Given the description of an element on the screen output the (x, y) to click on. 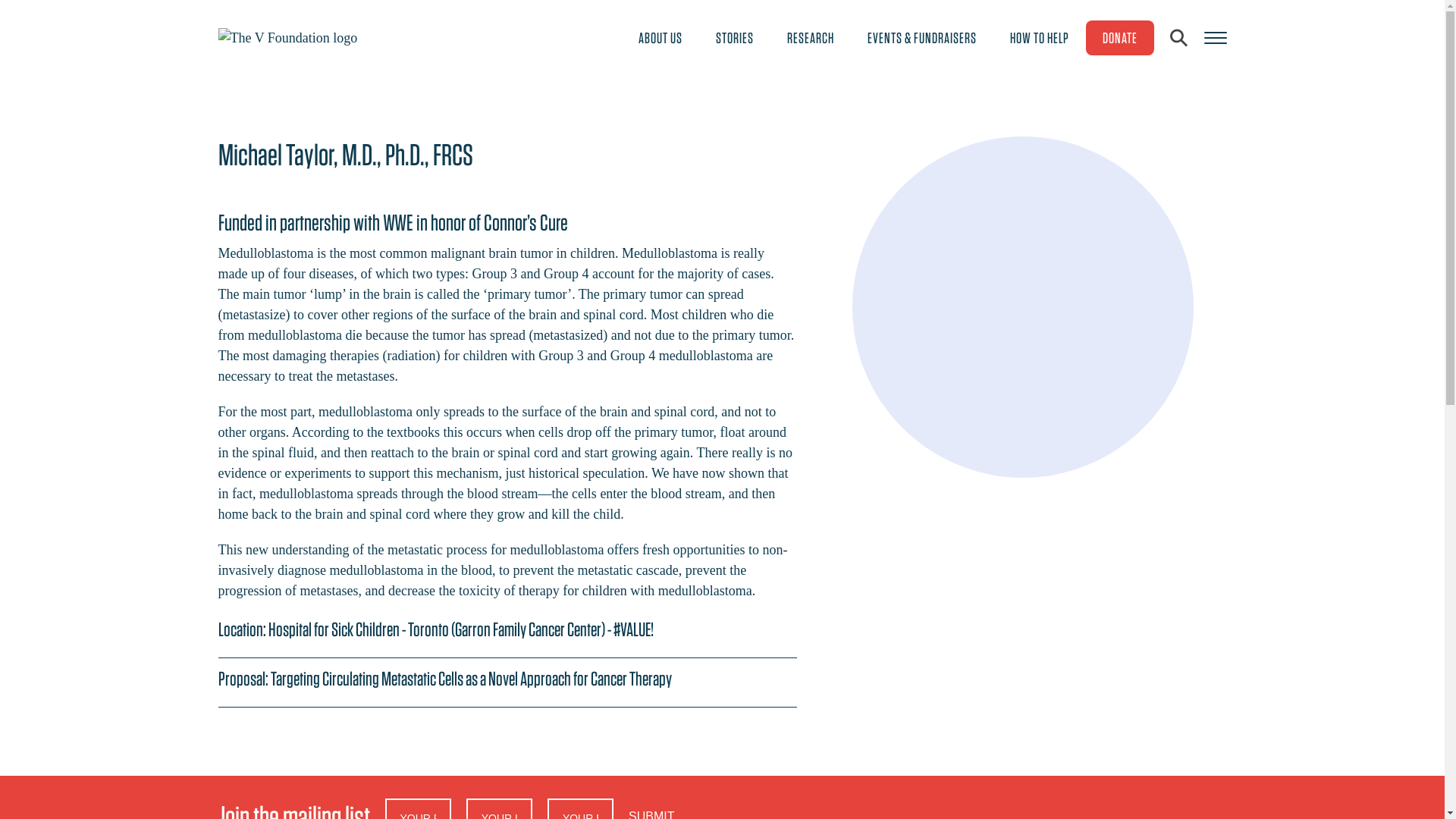
HOW TO HELP (1039, 37)
RESEARCH (810, 37)
ABOUT US (659, 37)
DONATE (1120, 37)
Submit (669, 808)
STORIES (734, 37)
The V Foundation (288, 37)
